Given the description of an element on the screen output the (x, y) to click on. 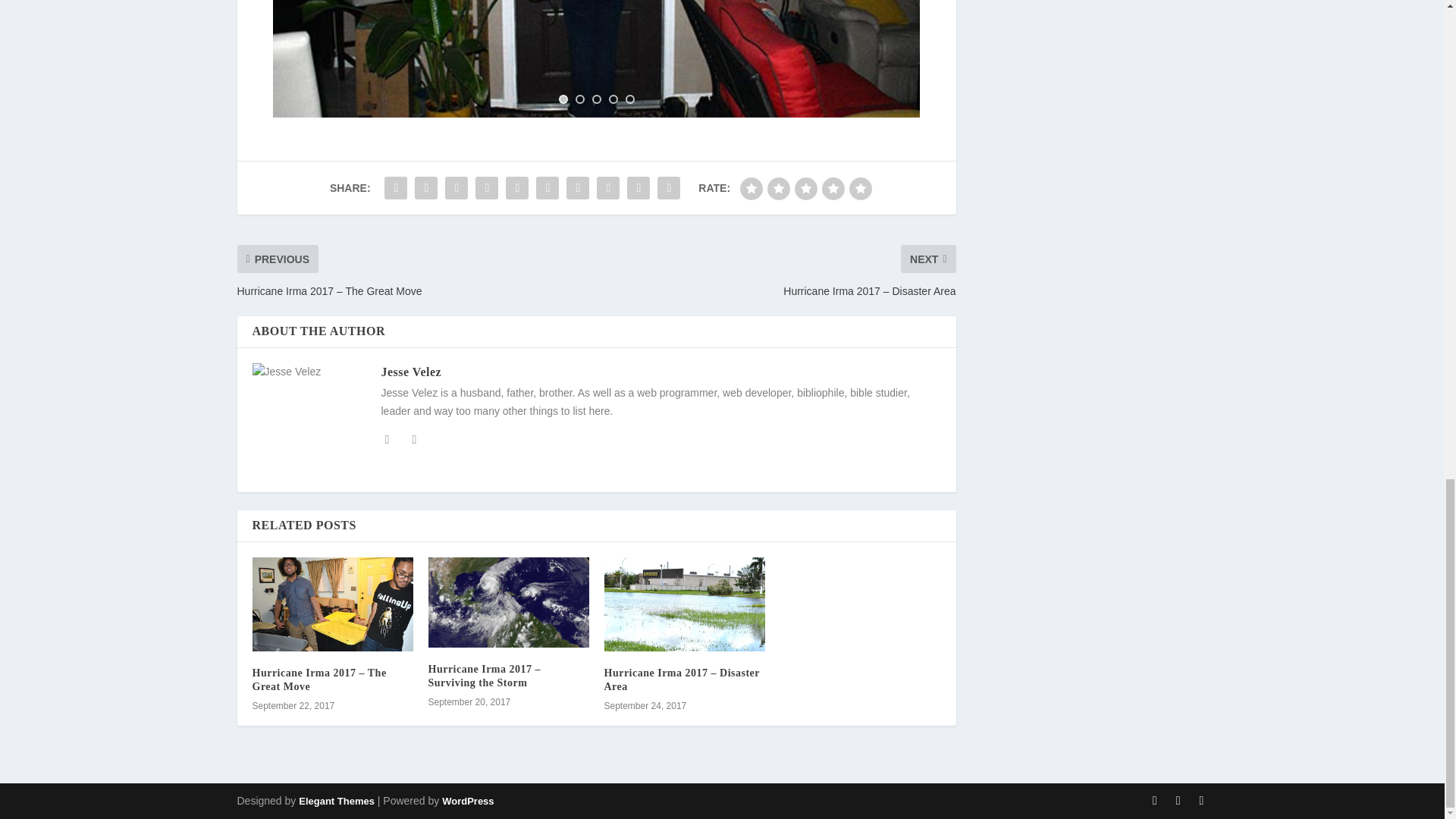
Jesse Velez (410, 371)
